Given the description of an element on the screen output the (x, y) to click on. 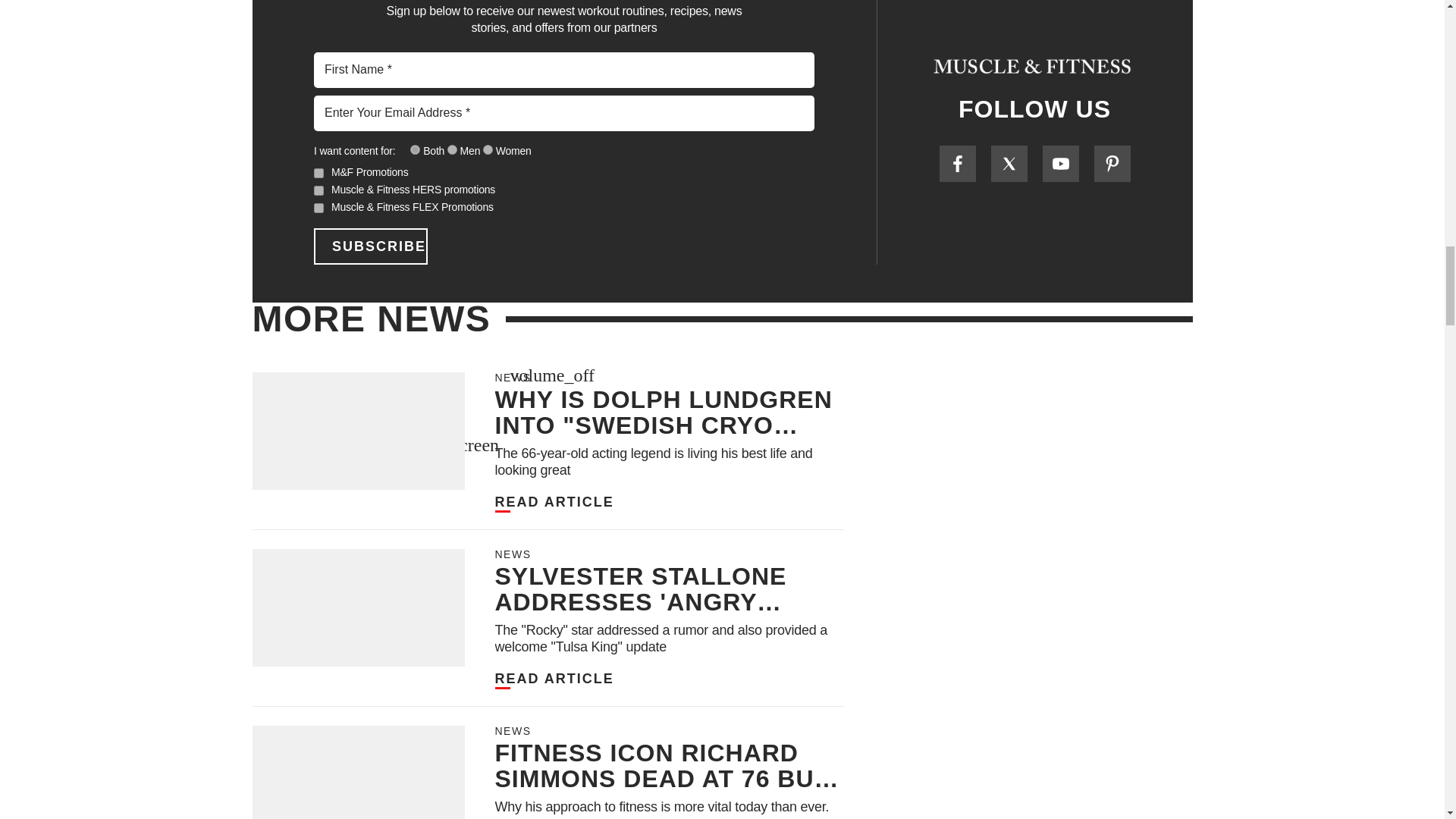
755 (415, 149)
759 (488, 149)
757 (451, 149)
